Given the description of an element on the screen output the (x, y) to click on. 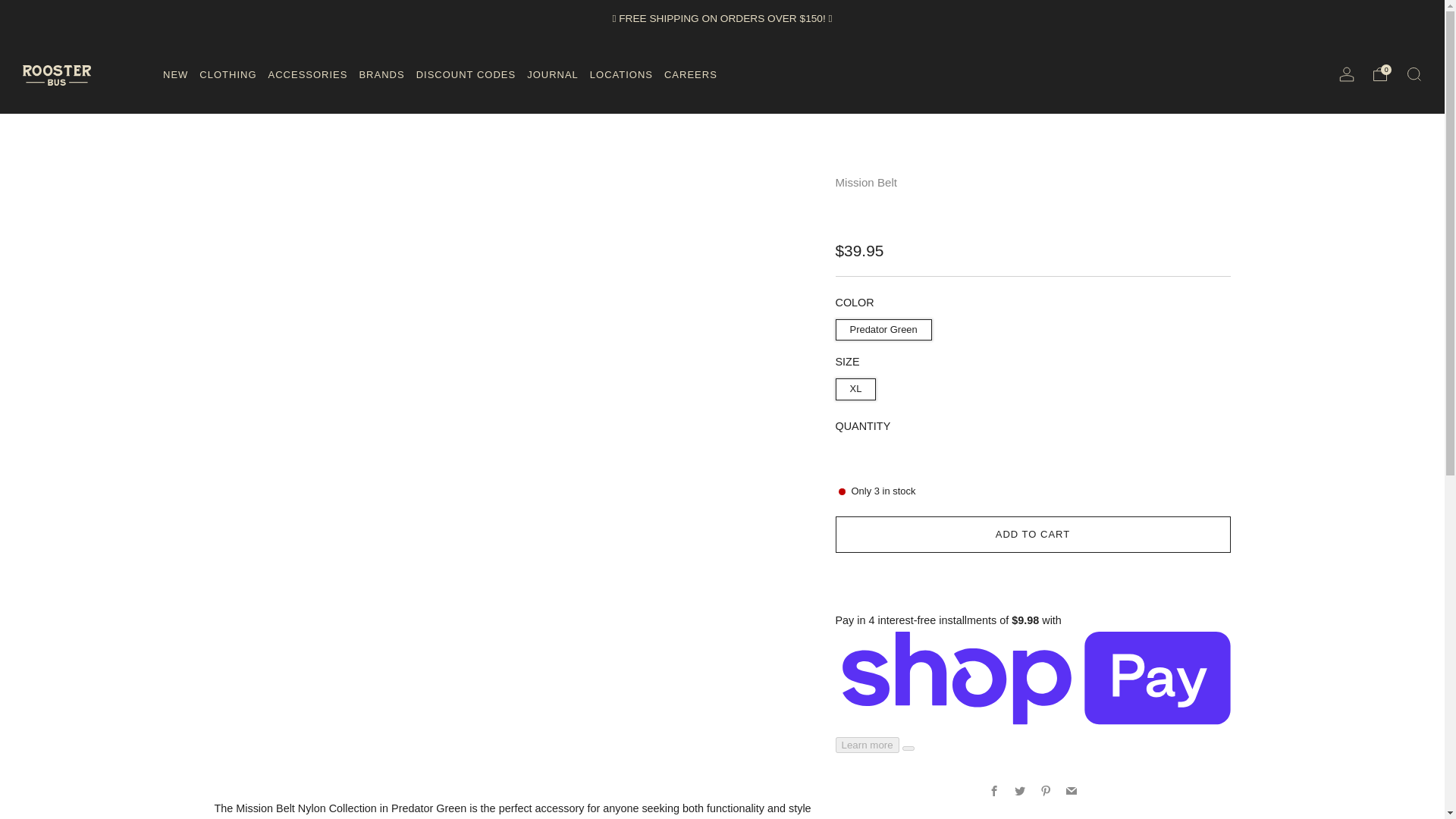
XL (857, 385)
ACCESSORIES (307, 74)
NEW (175, 74)
Mission Belt (865, 182)
BRANDS (381, 74)
Predator Green (885, 326)
CLOTHING (227, 74)
